Given the description of an element on the screen output the (x, y) to click on. 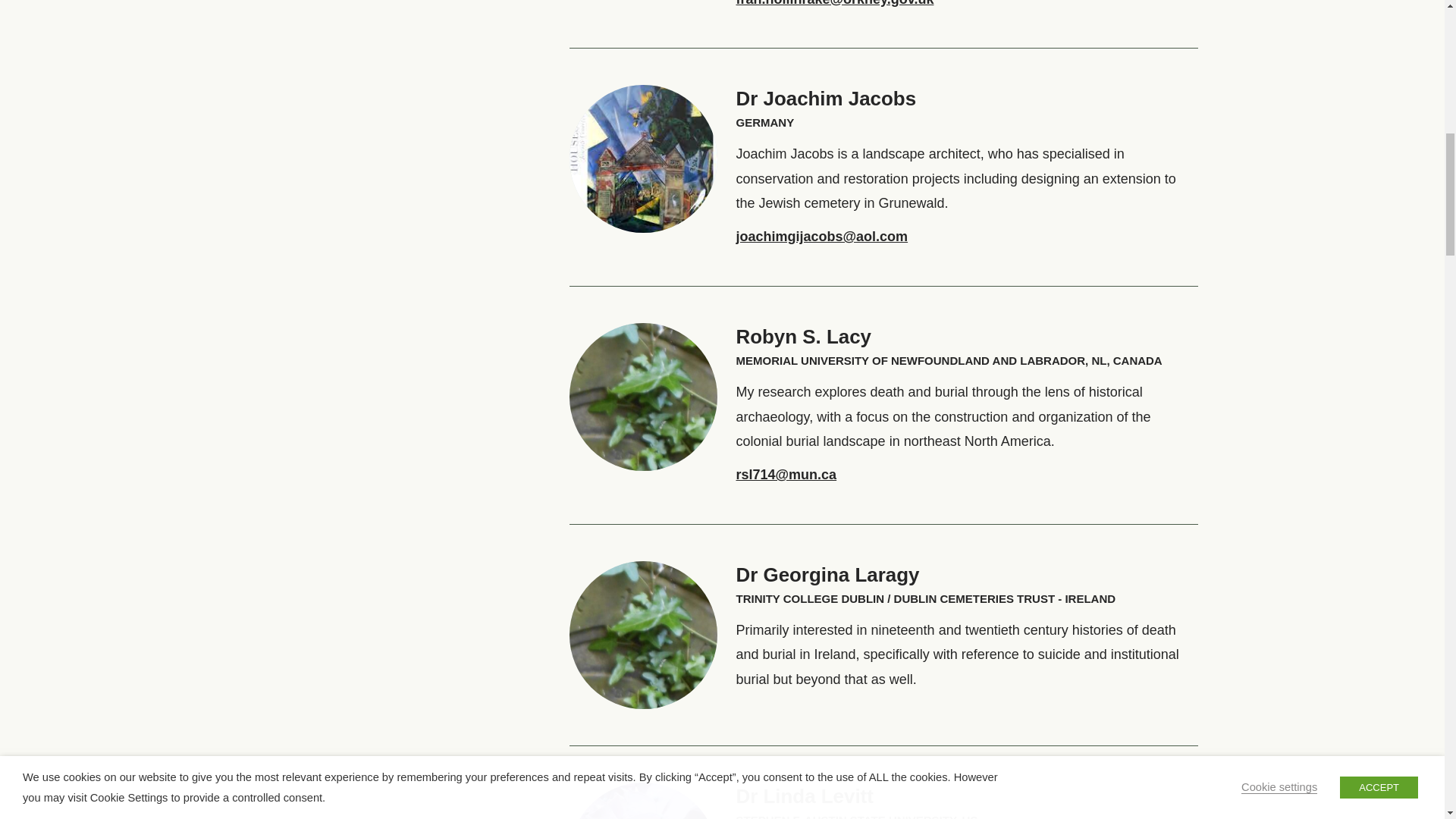
Dr Linda Levitt (803, 795)
Robyn S. Lacy (802, 336)
Dr Georgina Laragy (826, 574)
Dr Joachim Jacobs (825, 97)
